Given the description of an element on the screen output the (x, y) to click on. 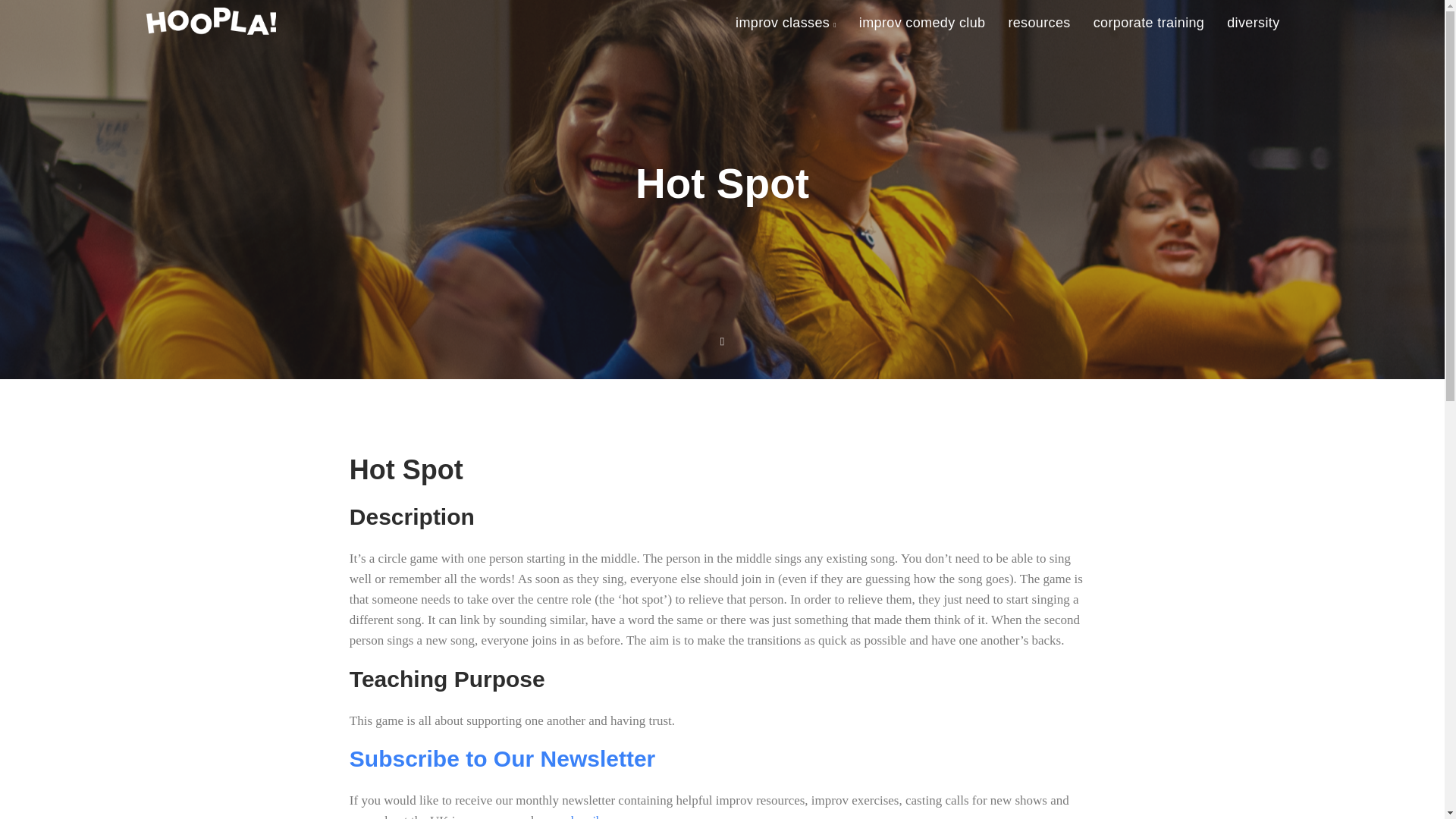
diversity (1252, 23)
resources (1038, 23)
improv comedy club (922, 23)
improv classes (785, 23)
subscribe (583, 816)
Subscribe to Our Newsletter (502, 758)
corporate training (1148, 23)
